Given the description of an element on the screen output the (x, y) to click on. 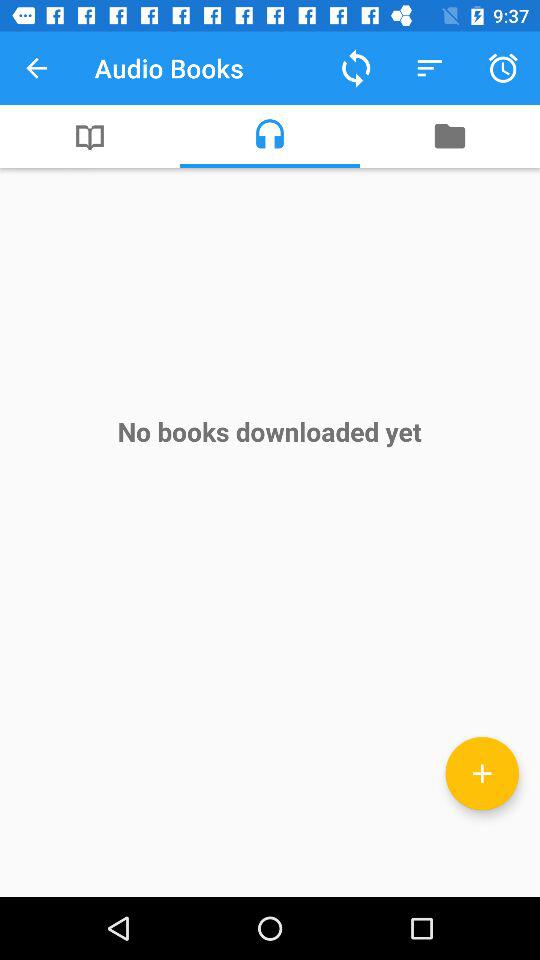
add selection (482, 773)
